Given the description of an element on the screen output the (x, y) to click on. 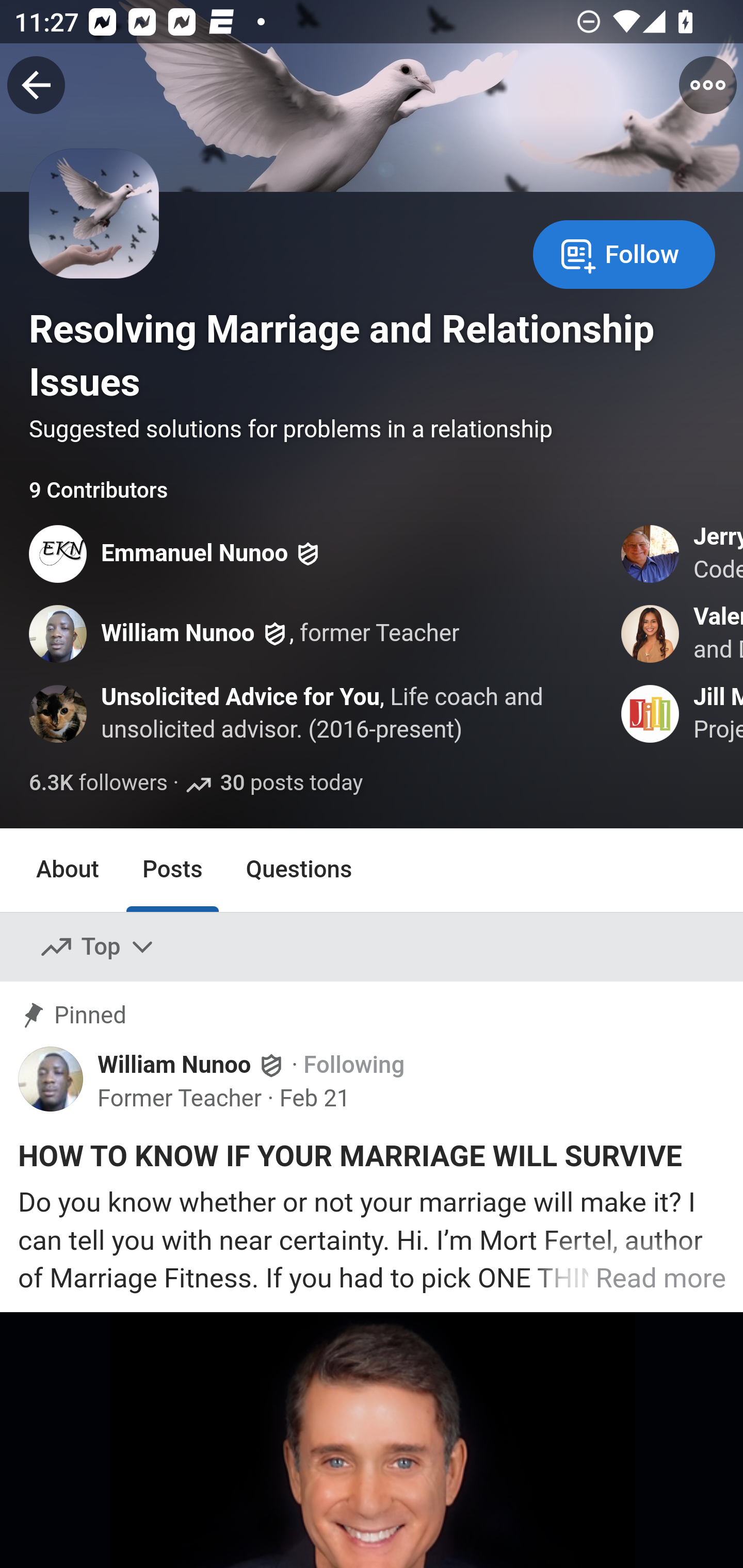
Follow (623, 252)
Resolving Marriage and Relationship Issues (365, 355)
Profile photo for Emmanuel Nunoo (58, 553)
Profile photo for Jerry Stumpf (650, 553)
Emmanuel Nunoo (195, 553)
Profile photo for William Nunoo (58, 634)
Profile photo for Valentina Gonzalez (650, 634)
William Nunoo (178, 633)
Unsolicited Advice for You (240, 697)
Profile photo for Unsolicited Advice for You (58, 713)
Profile photo for Jill Mead (650, 713)
6.3K followers (98, 782)
About (68, 870)
Posts (171, 870)
Questions (299, 870)
Top (97, 946)
Profile photo for William Nunoo (50, 1077)
William Nunoo William Nunoo   (191, 1065)
